Given the description of an element on the screen output the (x, y) to click on. 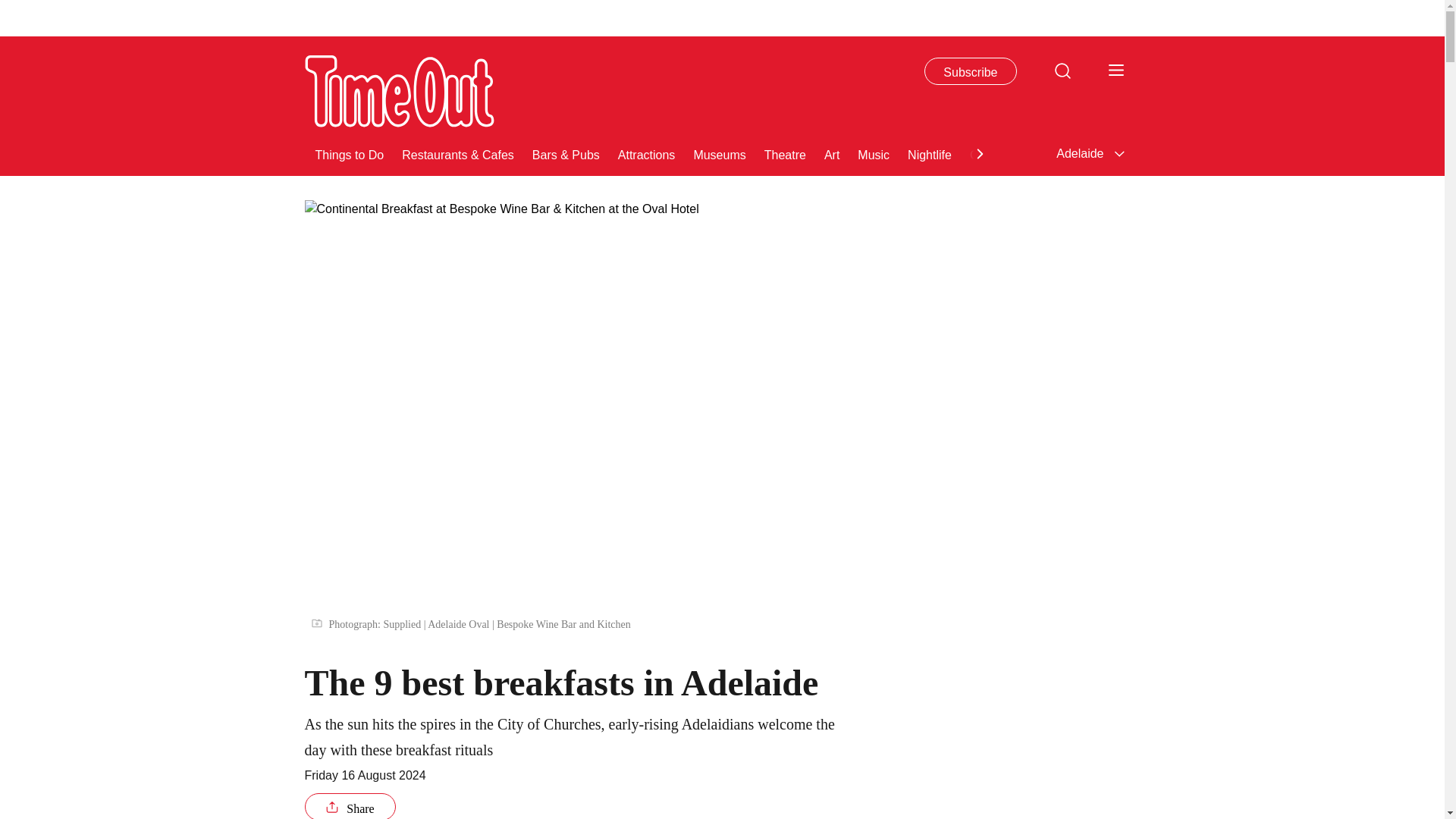
Attractions (646, 153)
Music (873, 153)
Things to Do (349, 153)
Museums (718, 153)
Comedy (992, 153)
Subscribe (970, 71)
Go to the content (10, 7)
Nightlife (929, 153)
Search (1061, 69)
Shopping (1058, 153)
